Given the description of an element on the screen output the (x, y) to click on. 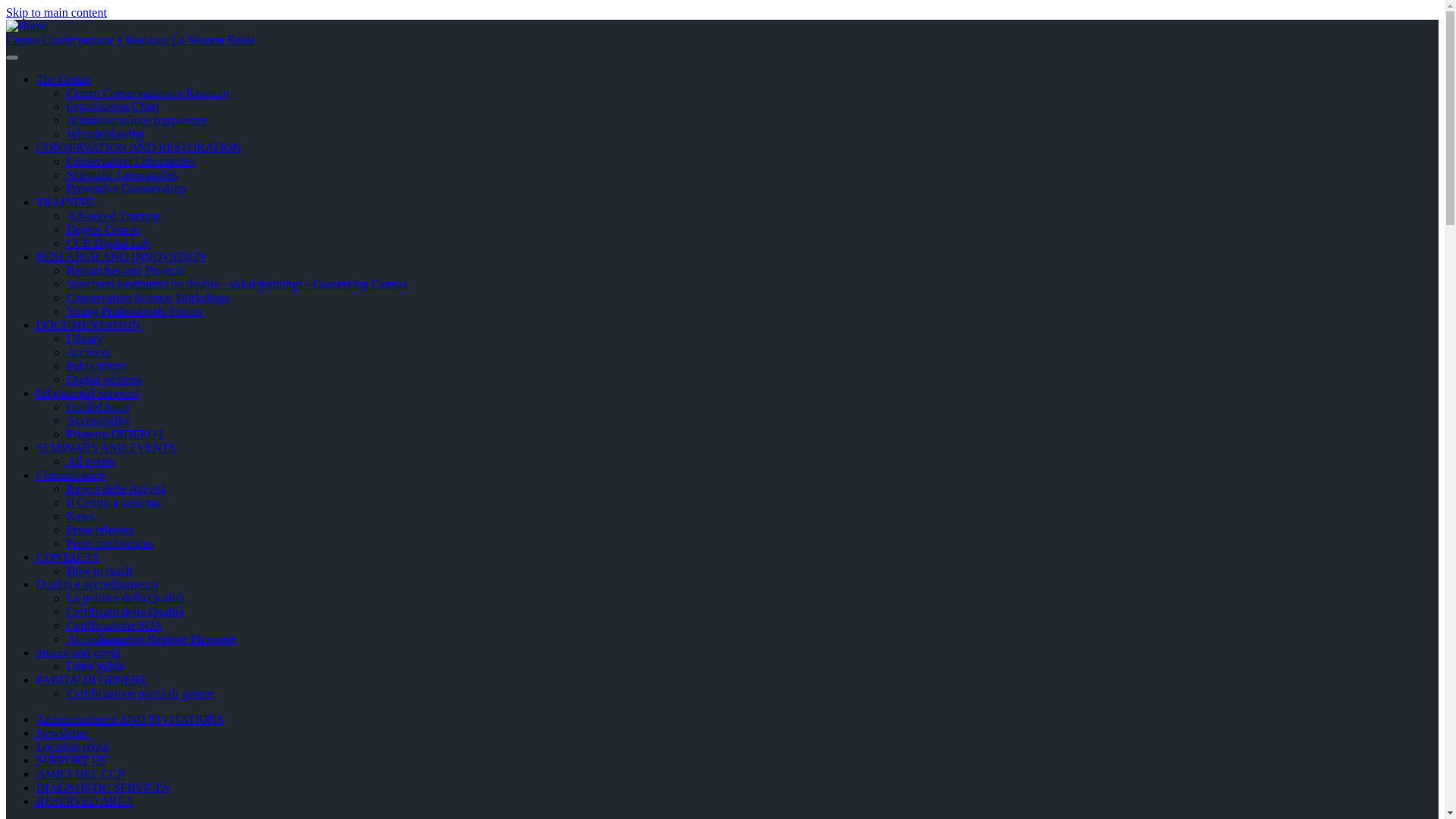
Publications (96, 365)
CONSERVATION AND RESTORATION (138, 146)
Press conferences (109, 543)
Guided tours (97, 406)
Archives (88, 351)
Il Centro a casa tua (113, 502)
Conservation Science Workshops (147, 297)
Preventive Conservation (126, 187)
Library (84, 338)
CCR Digital Lab (107, 242)
News (80, 515)
SEMINARS AND EVENTS (106, 447)
Organisation Chart (112, 106)
Amministrazione trasparente (136, 119)
